Given the description of an element on the screen output the (x, y) to click on. 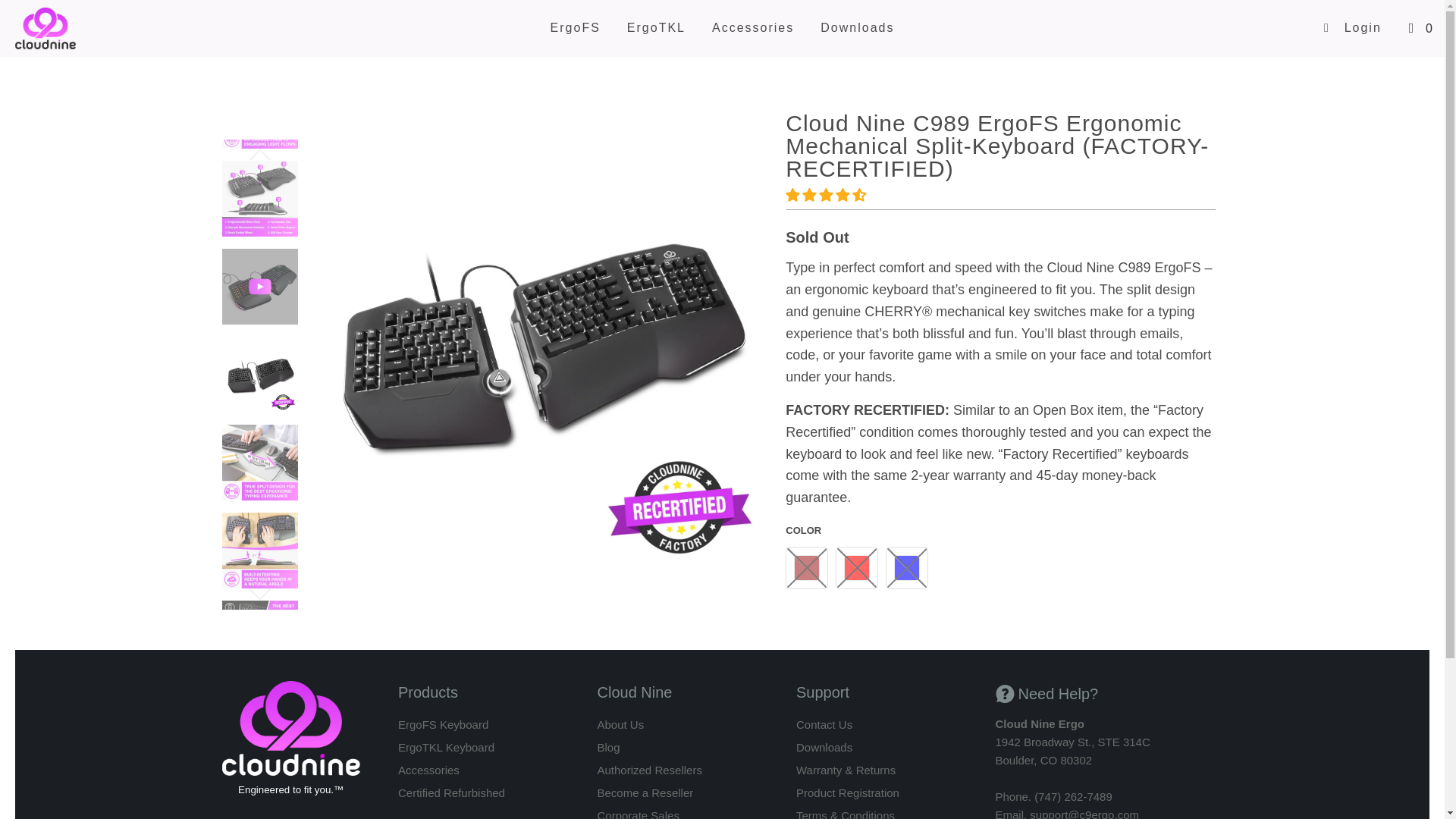
Accessories (752, 28)
My Account  (1352, 28)
Downloads (857, 28)
Cloudnine Ergonomic Solutions (113, 28)
Login (1352, 28)
ErgoTKL (656, 28)
ErgoFS (574, 28)
